Given the description of an element on the screen output the (x, y) to click on. 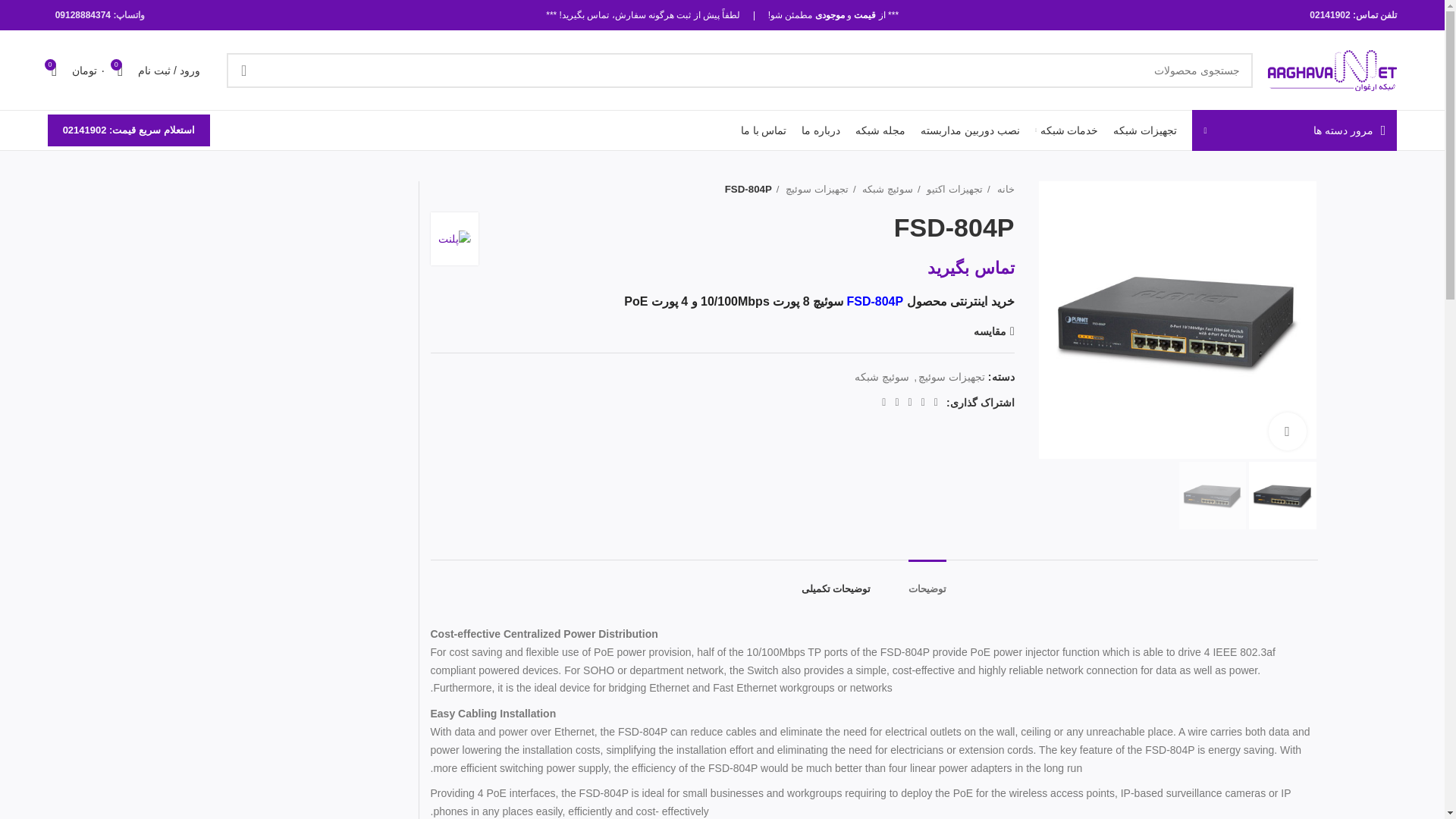
059-500x500 (1177, 319)
09128884374 (82, 14)
0 (53, 69)
